Given the description of an element on the screen output the (x, y) to click on. 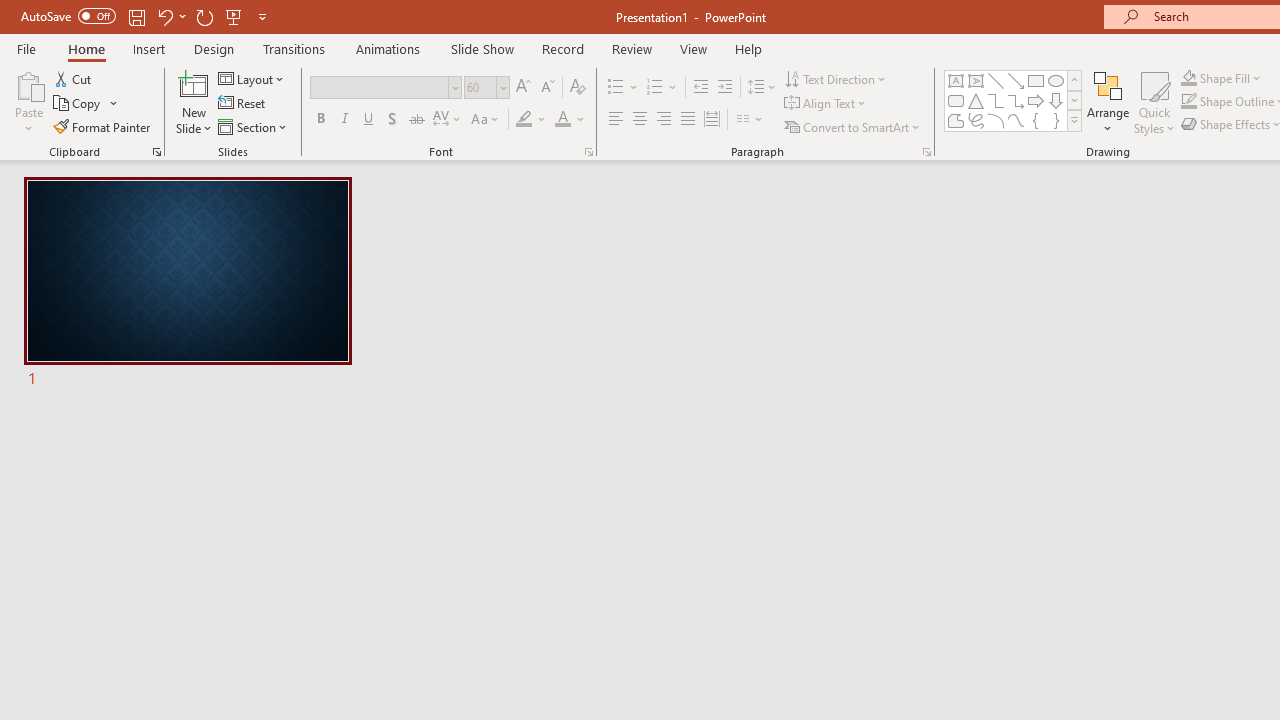
Text Highlight Color (531, 119)
Arrow: Right (1035, 100)
Office Clipboard... (156, 151)
Cut (73, 78)
Center (639, 119)
Line (995, 80)
Font Color Red (562, 119)
